Given the description of an element on the screen output the (x, y) to click on. 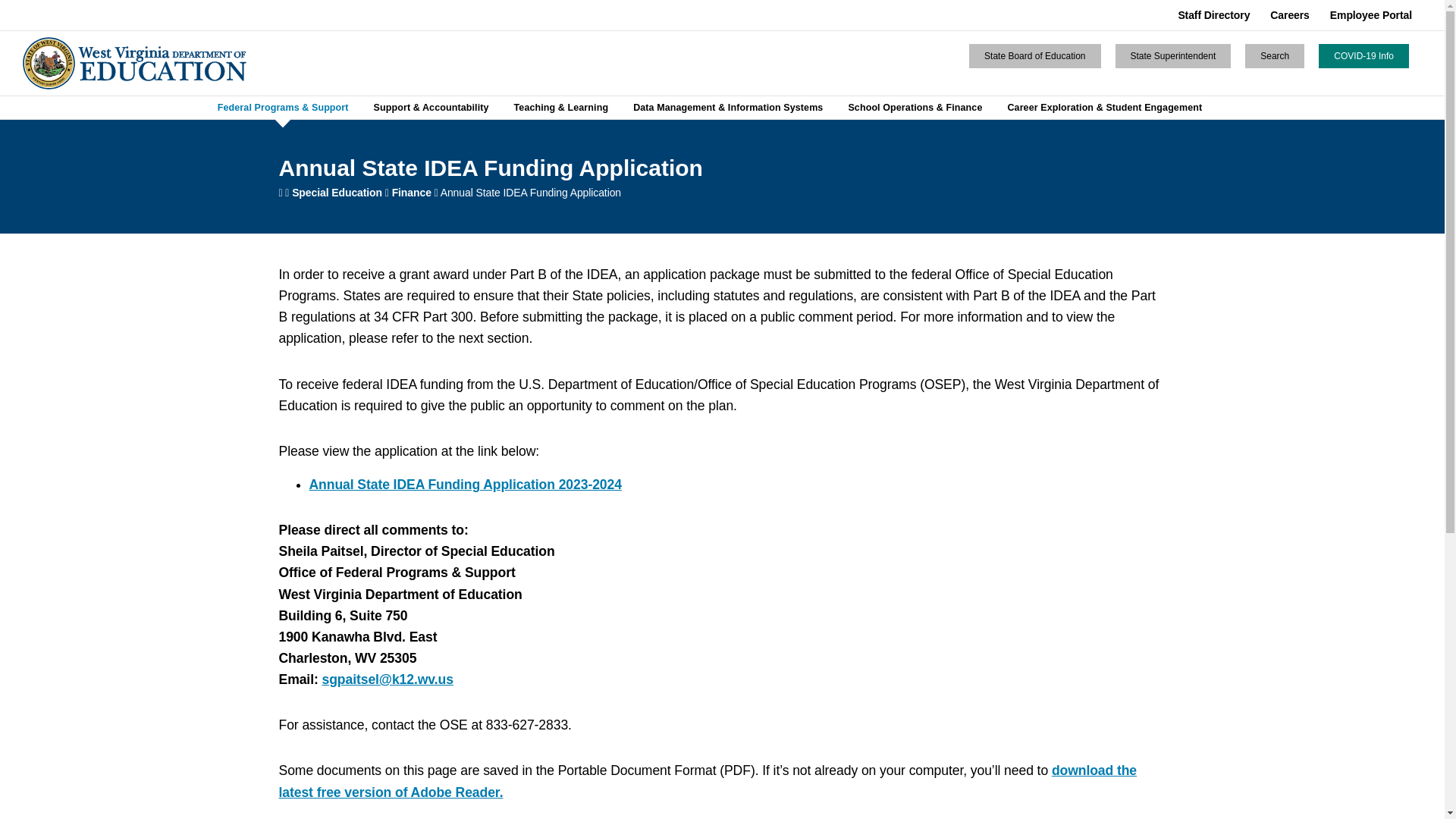
Careers (1289, 15)
COVID-19 Info (1363, 55)
State Superintendent (1172, 55)
Search (1274, 55)
State Board of Education (1035, 55)
Employee Portal (1371, 15)
Staff Directory (1213, 15)
